Given the description of an element on the screen output the (x, y) to click on. 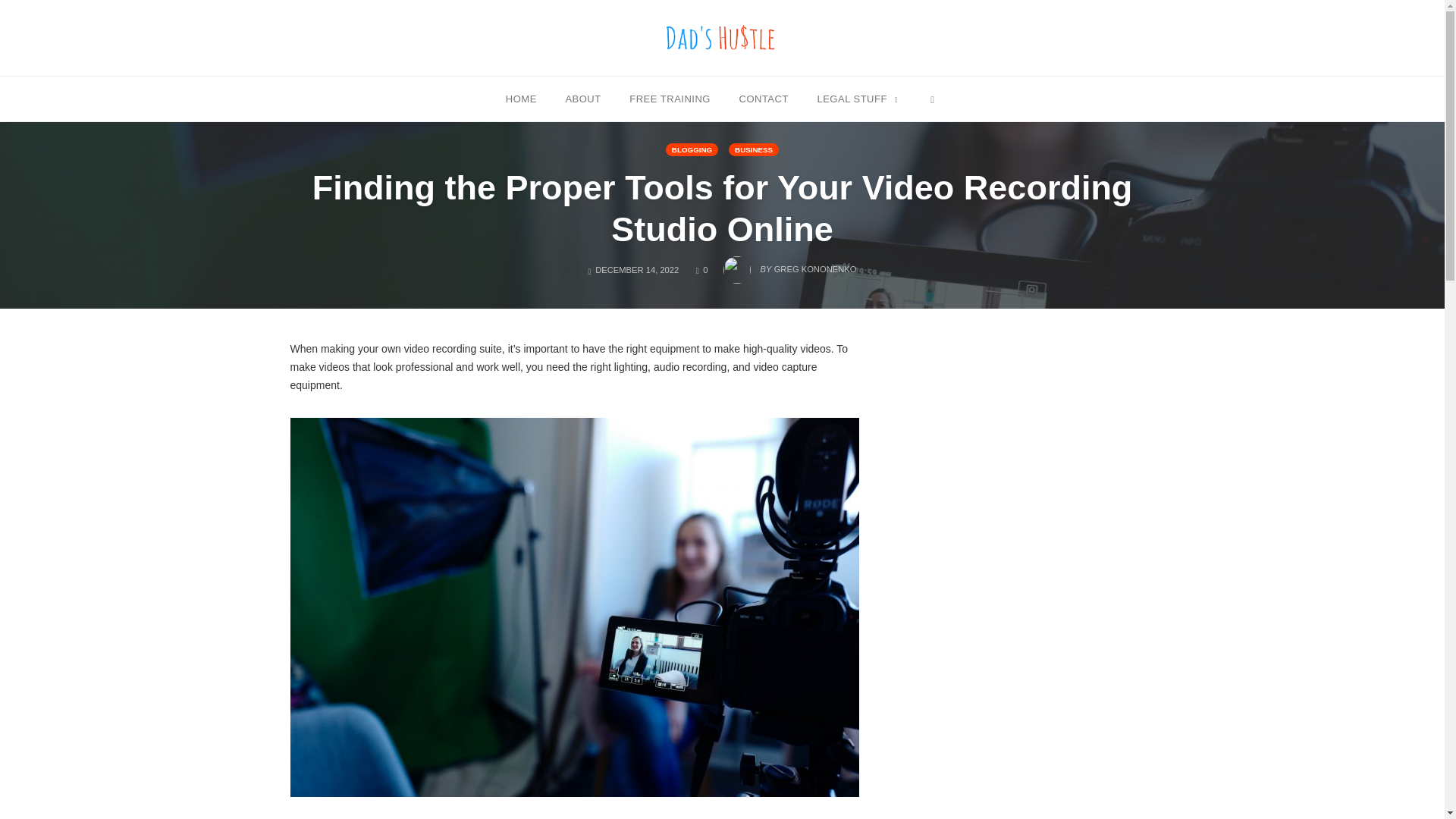
Dad's Hustle (701, 269)
ABOUT (721, 37)
HOME (582, 97)
BLOGGING (520, 97)
OPEN SEARCH FORM (691, 149)
LEGAL STUFF (931, 97)
CONTACT (856, 97)
FREE TRAINING (763, 97)
